Given the description of an element on the screen output the (x, y) to click on. 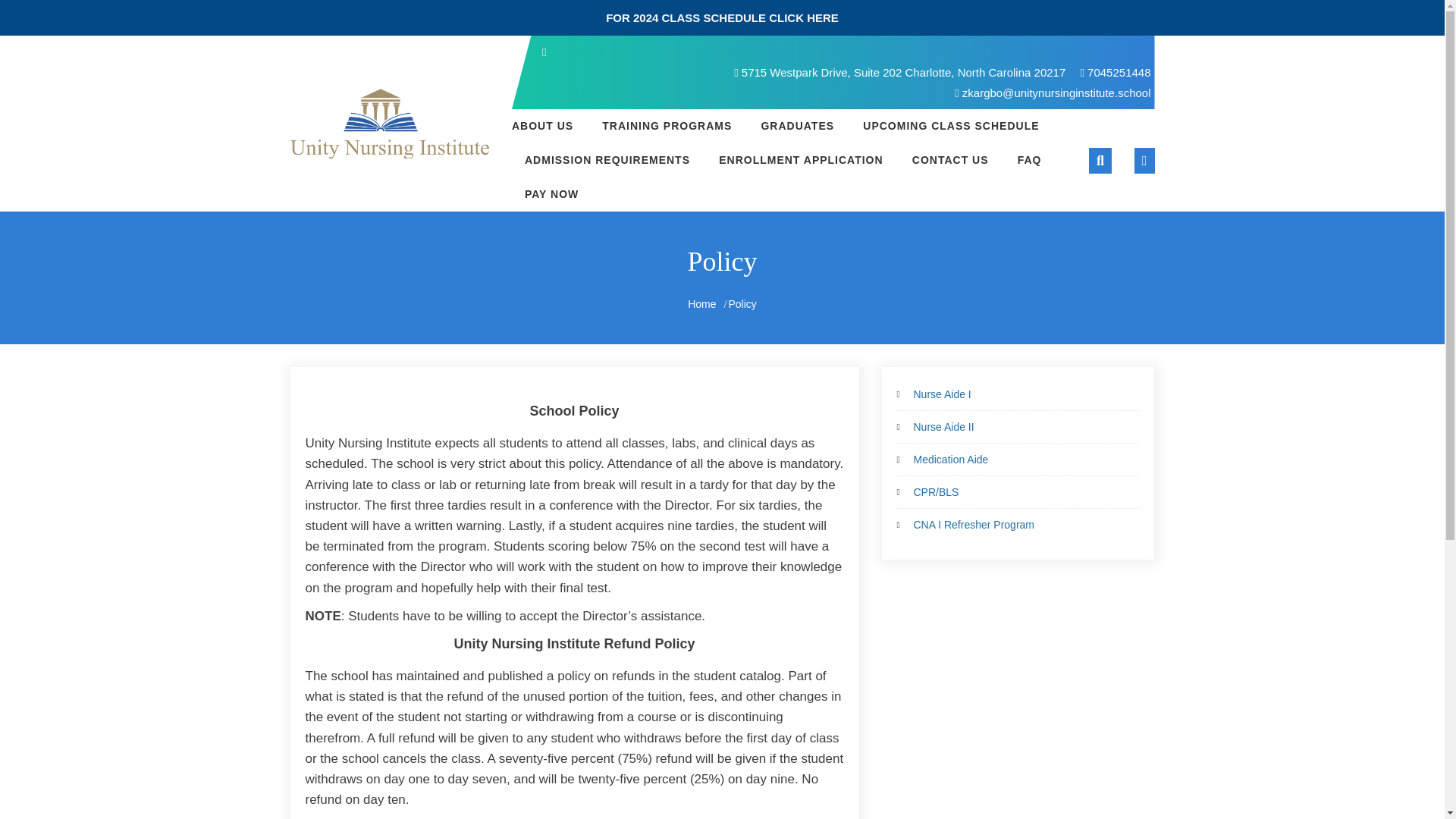
7045251448 (1115, 72)
FOR 2024 CLASS SCHEDULE CLICK HERE (721, 17)
PAY NOW (545, 194)
Nurse Aide II (943, 426)
Home (701, 304)
Search (1105, 236)
ENROLLMENT APPLICATION (800, 160)
UPCOMING CLASS SCHEDULE (950, 125)
GRADUATES (797, 125)
FAQ (1029, 160)
